Given the description of an element on the screen output the (x, y) to click on. 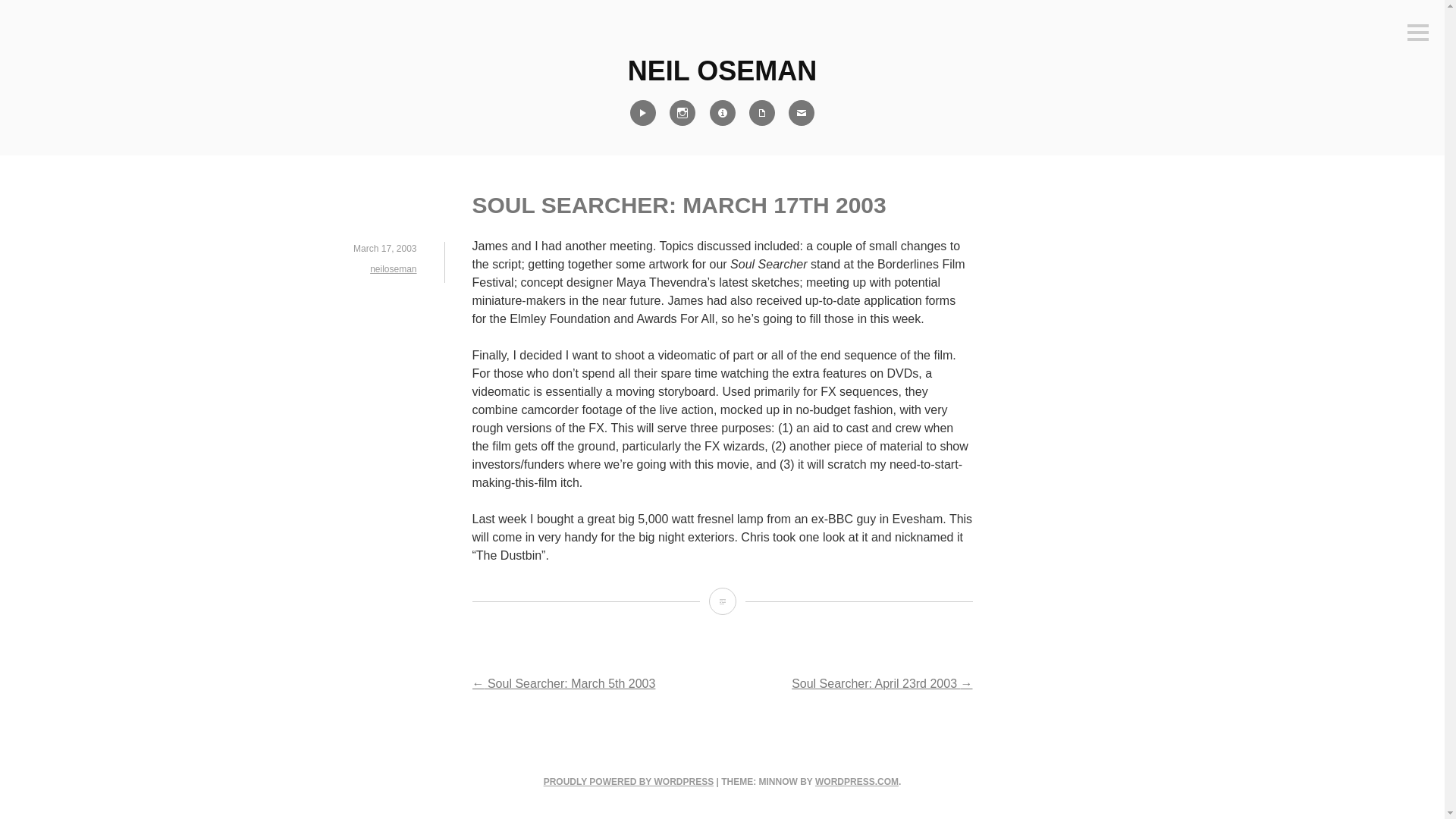
neiloseman (392, 268)
Reel (642, 112)
Sidebar (1417, 33)
Sidebar (1417, 33)
CV (762, 112)
Reel (642, 112)
Instagram (681, 112)
IMDb (721, 112)
PROUDLY POWERED BY WORDPRESS (628, 781)
Instagram (681, 112)
Soul Searcher: March 17th 2003 (721, 601)
Search (33, 12)
Contact (801, 112)
March 17, 2003 (384, 248)
WORDPRESS.COM (856, 781)
